Given the description of an element on the screen output the (x, y) to click on. 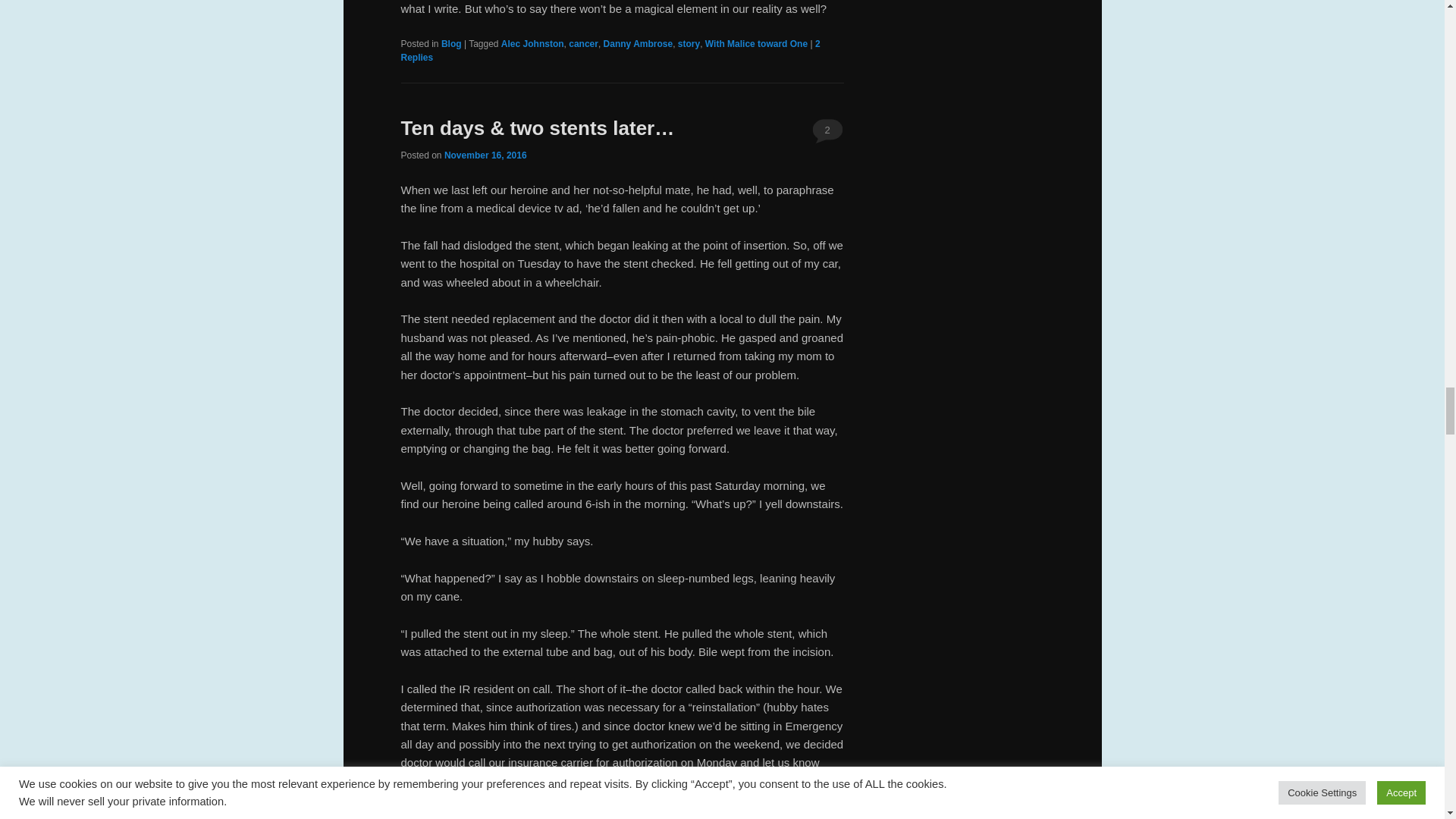
2:47 pm (485, 154)
